Given the description of an element on the screen output the (x, y) to click on. 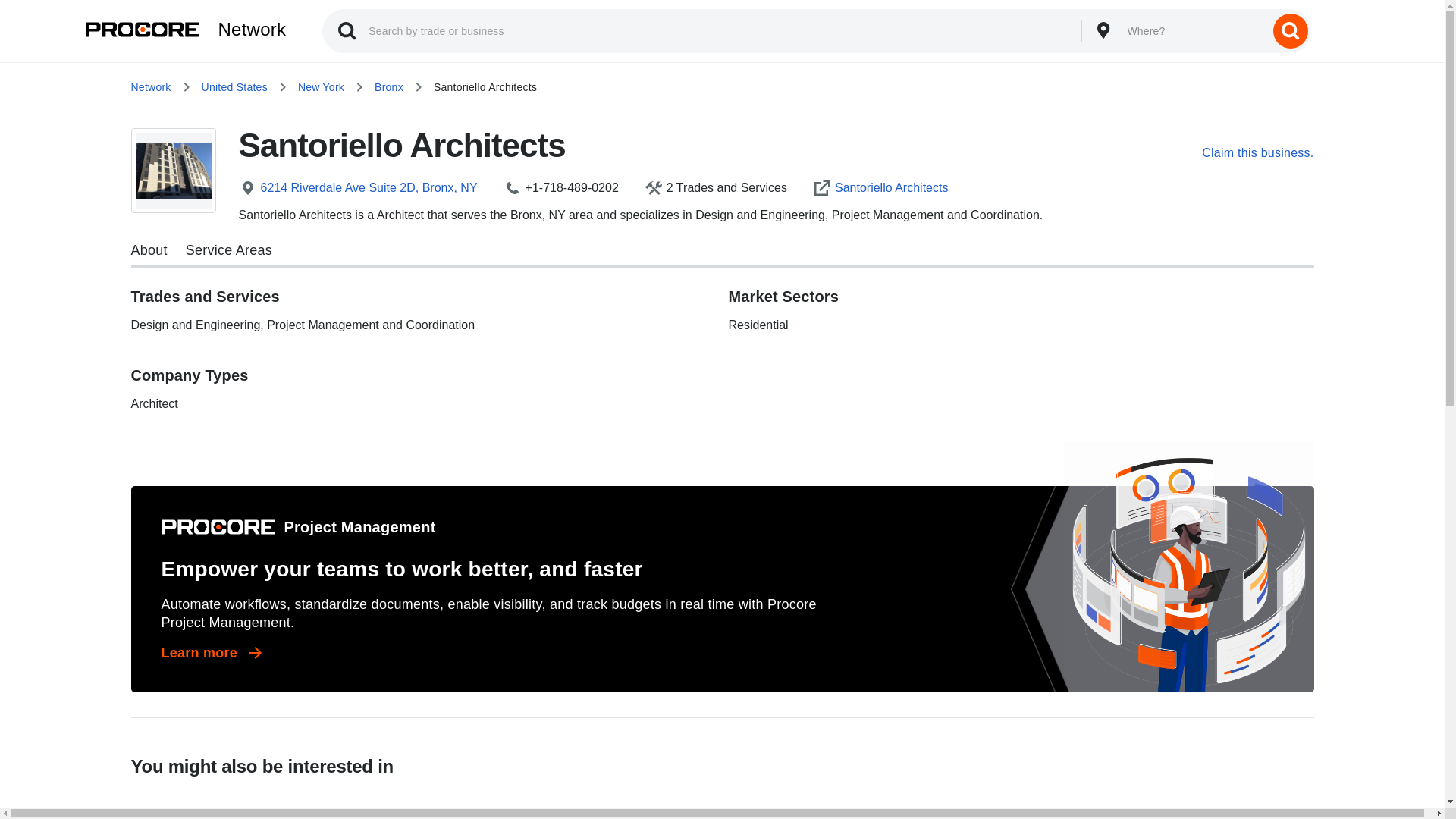
About (149, 249)
Thriven Design (1171, 801)
New York (320, 87)
Claim this business. (1257, 152)
Service Areas (229, 249)
United States (234, 87)
Ballinger (571, 801)
Network (246, 29)
Santoriello Architects (893, 187)
Food Tech, Inc. (271, 801)
6214 Riverdale Ave Suite 2D, Bronx, NY (370, 187)
Learn more (212, 652)
Network (150, 87)
Bronx (388, 87)
